Given the description of an element on the screen output the (x, y) to click on. 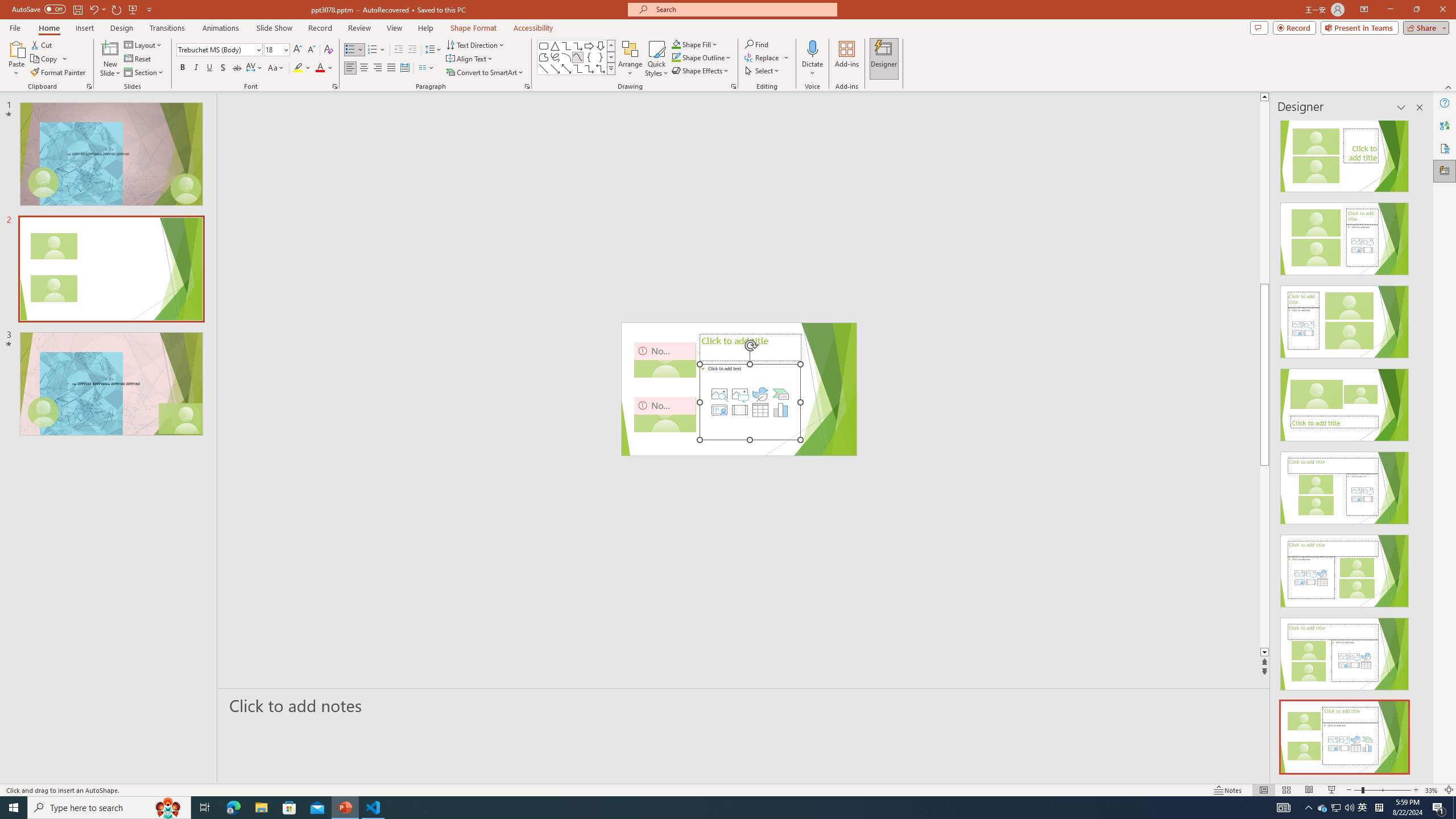
Zoom 33% (1431, 790)
Content Placeholder (750, 401)
